Given the description of an element on the screen output the (x, y) to click on. 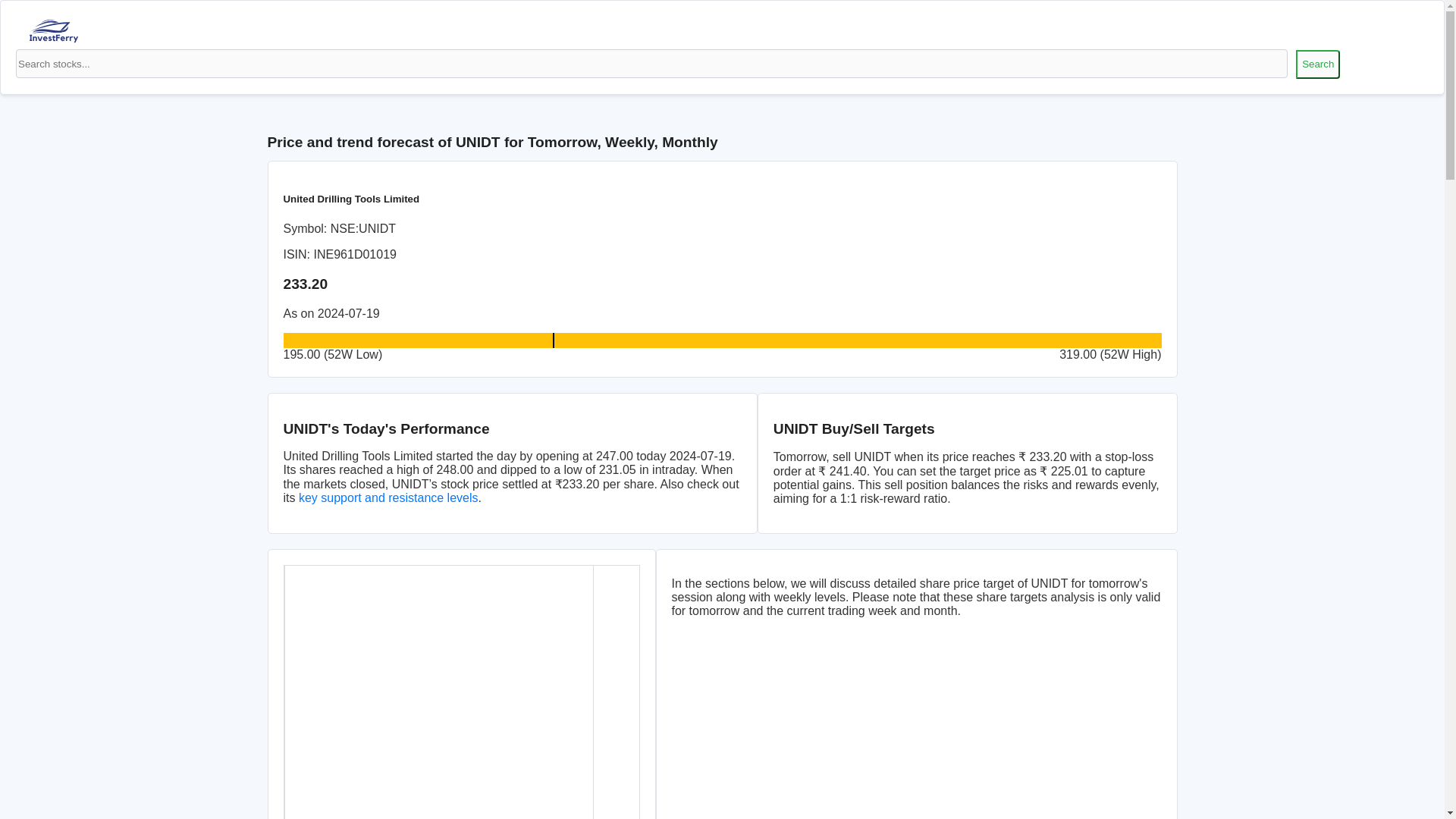
Search (1317, 63)
key support and resistance levels (388, 497)
